Given the description of an element on the screen output the (x, y) to click on. 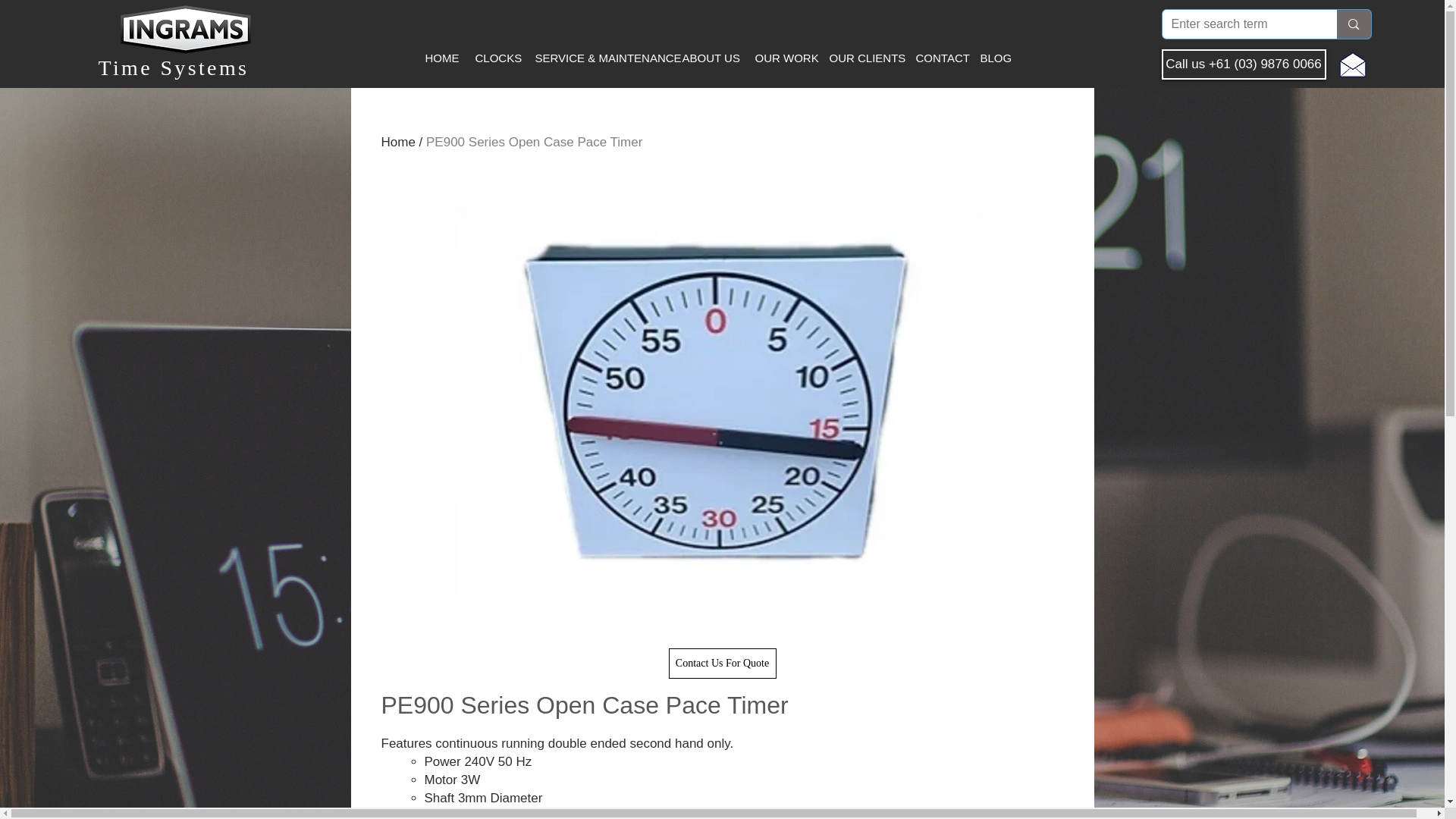
Home (397, 142)
OUR CLIENTS (861, 58)
CLOCKS (495, 58)
ABOUT US (707, 58)
HOME (439, 58)
Contact Us For Quote (722, 663)
OUR WORK (781, 58)
BLOG (994, 58)
CONTACT (937, 58)
PE900 Series Open Case Pace Timer (534, 142)
